Given the description of an element on the screen output the (x, y) to click on. 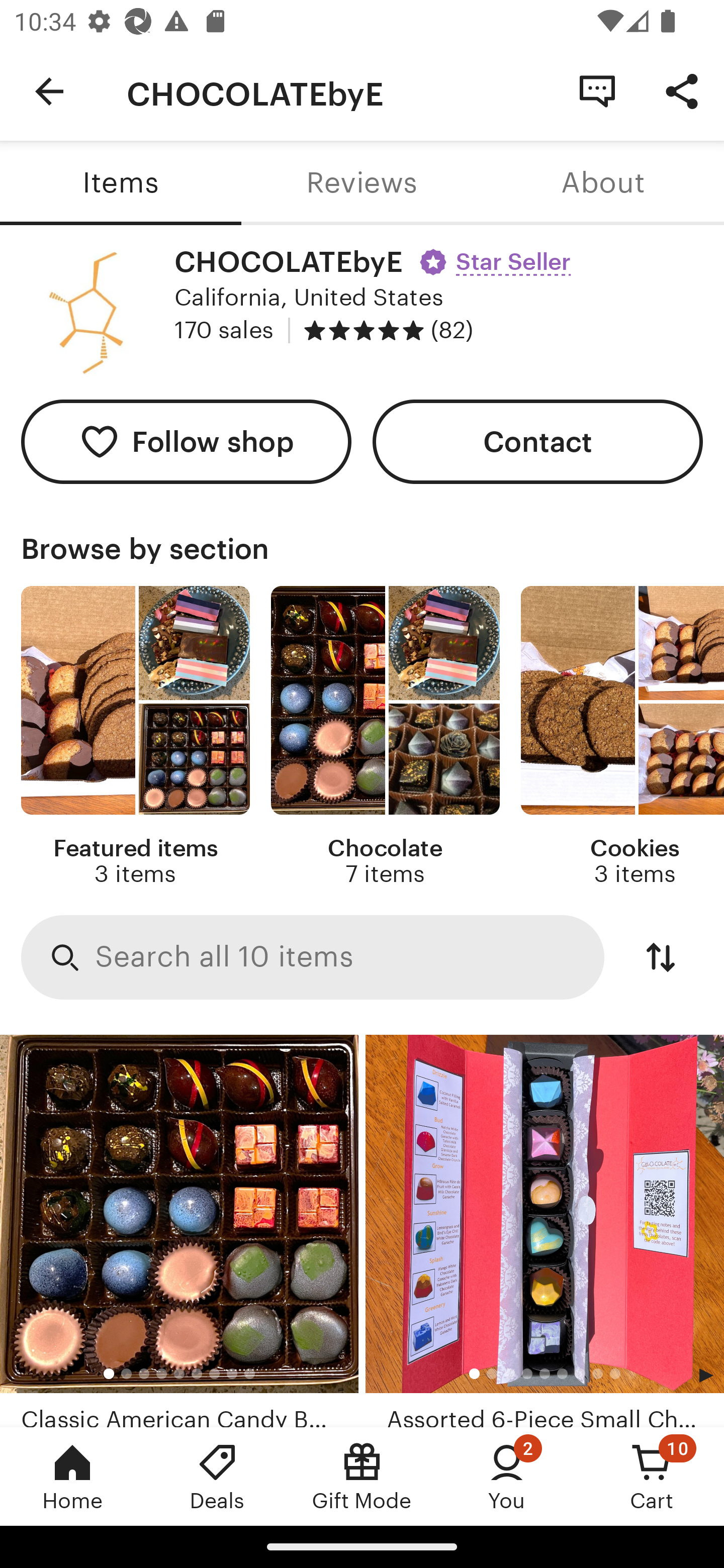
Navigate up (49, 91)
Contact Shop (597, 90)
Share (681, 90)
Reviews (361, 183)
About (603, 183)
Star Seller (497, 255)
Follow shop (185, 441)
Contact (537, 441)
Featured items 3 items (134, 736)
Chocolate 7 items (384, 736)
Cookies 3 items (622, 736)
Search Search all 10 items (312, 957)
Deals (216, 1475)
Gift Mode (361, 1475)
You, 2 new notifications You (506, 1475)
Cart, 10 new notifications Cart (651, 1475)
